Given the description of an element on the screen output the (x, y) to click on. 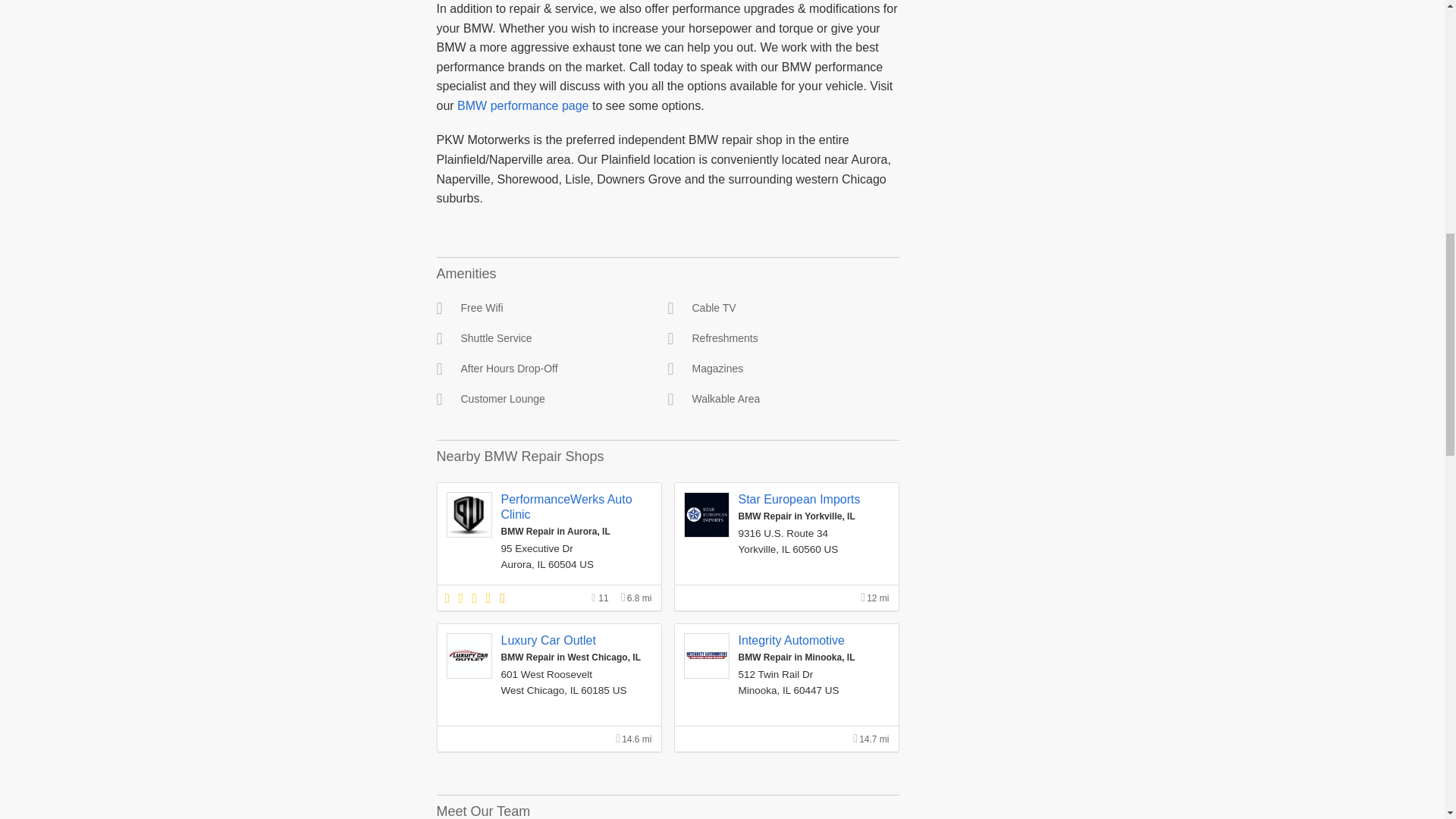
BMW performance page (522, 105)
